Given the description of an element on the screen output the (x, y) to click on. 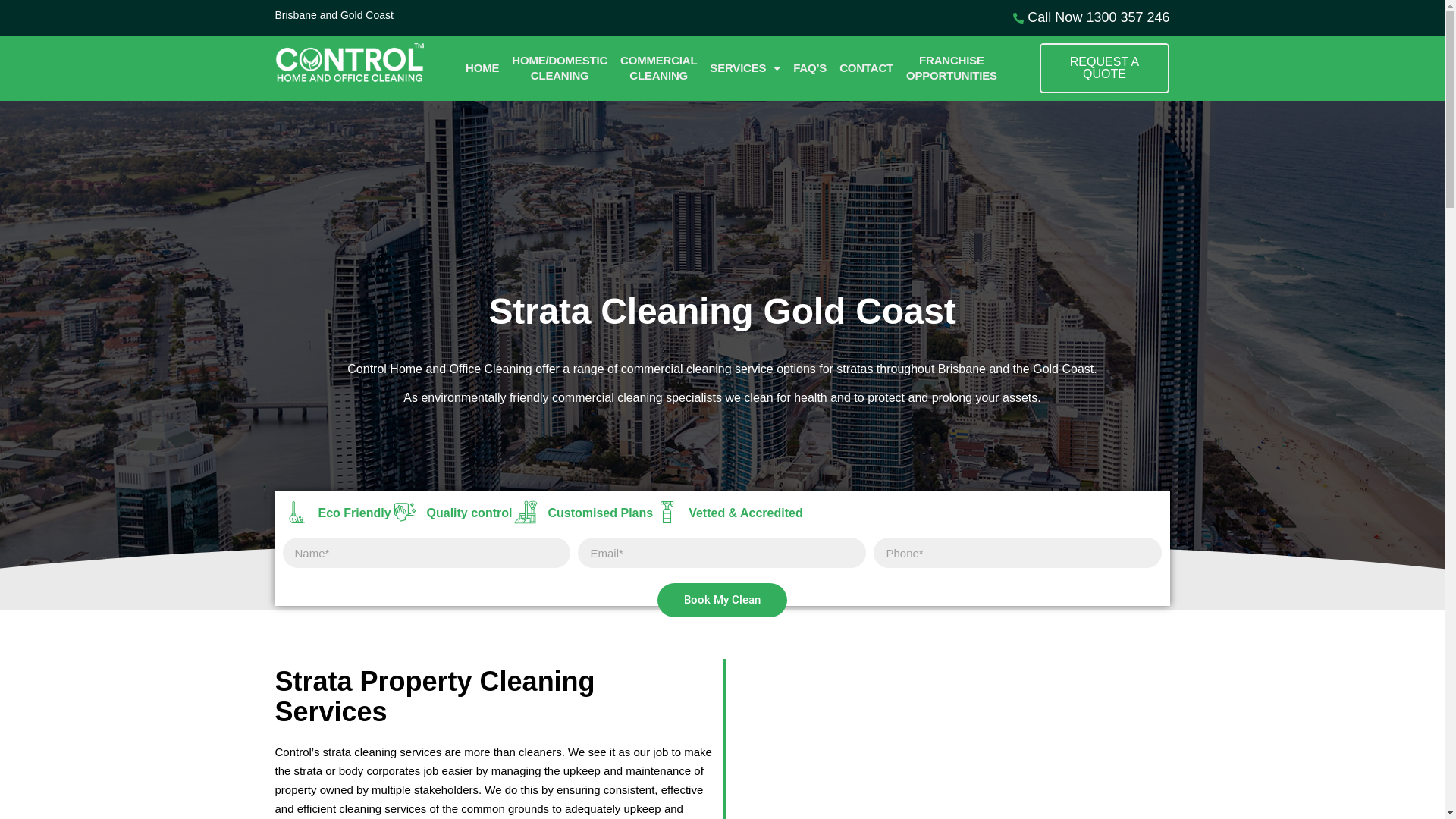
REQUEST A QUOTE Element type: text (1103, 68)
FRANCHISE
OPPORTUNITIES Element type: text (951, 68)
CONTACT Element type: text (866, 68)
Call Now 1300 357 246 Element type: text (949, 17)
SERVICES Element type: text (745, 68)
HOME/DOMESTIC
CLEANING Element type: text (559, 68)
COMMERCIAL
CLEANING Element type: text (658, 68)
HOME Element type: text (481, 68)
Book My Clean Element type: text (722, 600)
